Given the description of an element on the screen output the (x, y) to click on. 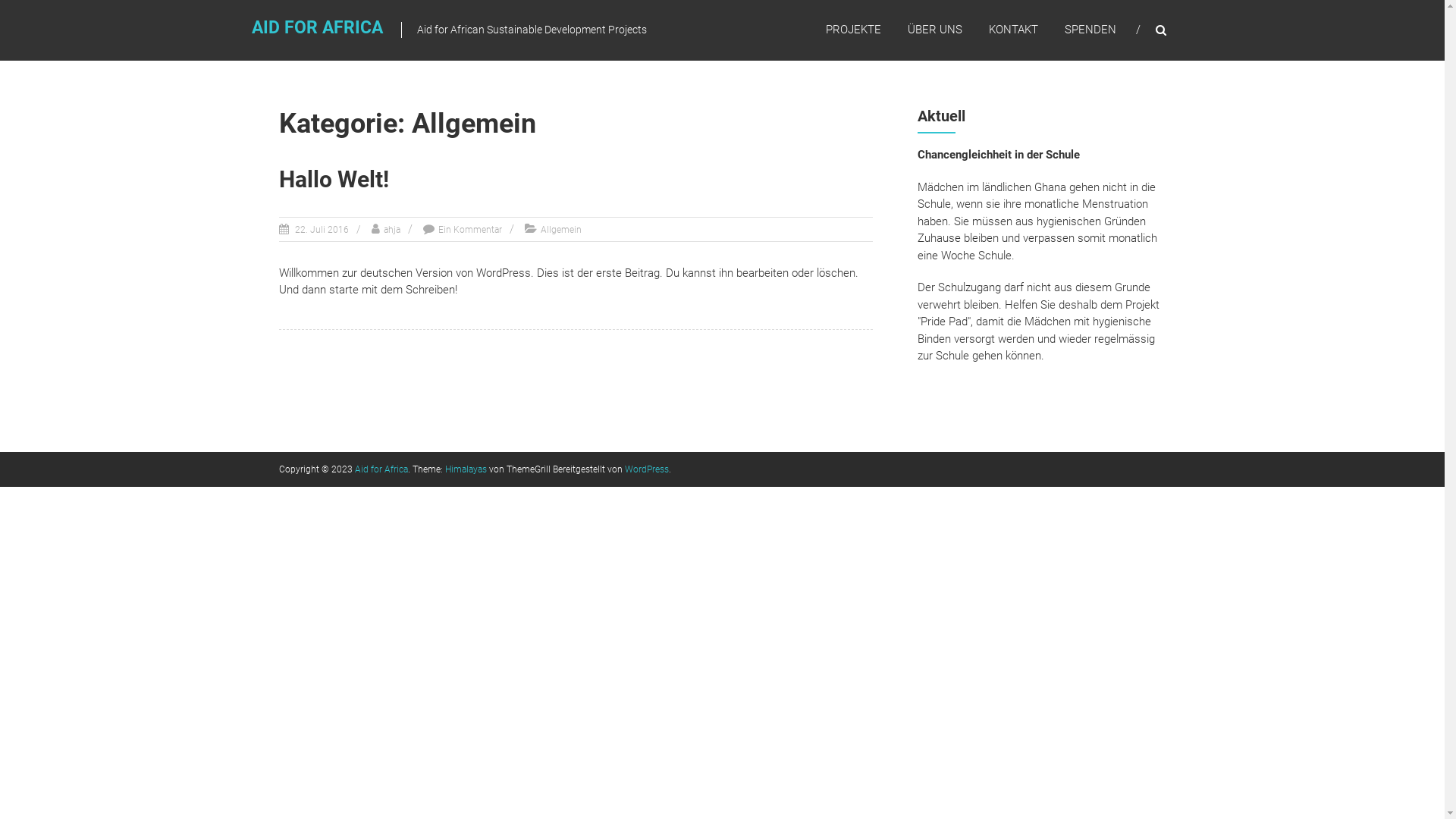
Himalayas Element type: text (465, 469)
ahja Element type: text (391, 229)
22. Juli 2016 Element type: text (320, 229)
Allgemein Element type: text (559, 229)
Hallo Welt! Element type: text (334, 179)
WordPress Element type: text (646, 469)
Suche Element type: text (1231, 409)
Ein Kommentar Element type: text (470, 229)
SPENDEN Element type: text (1090, 29)
PROJEKTE Element type: text (852, 29)
AID FOR AFRICA Element type: text (316, 27)
KONTAKT Element type: text (1013, 29)
Aid for Africa Element type: text (380, 469)
